Given the description of an element on the screen output the (x, y) to click on. 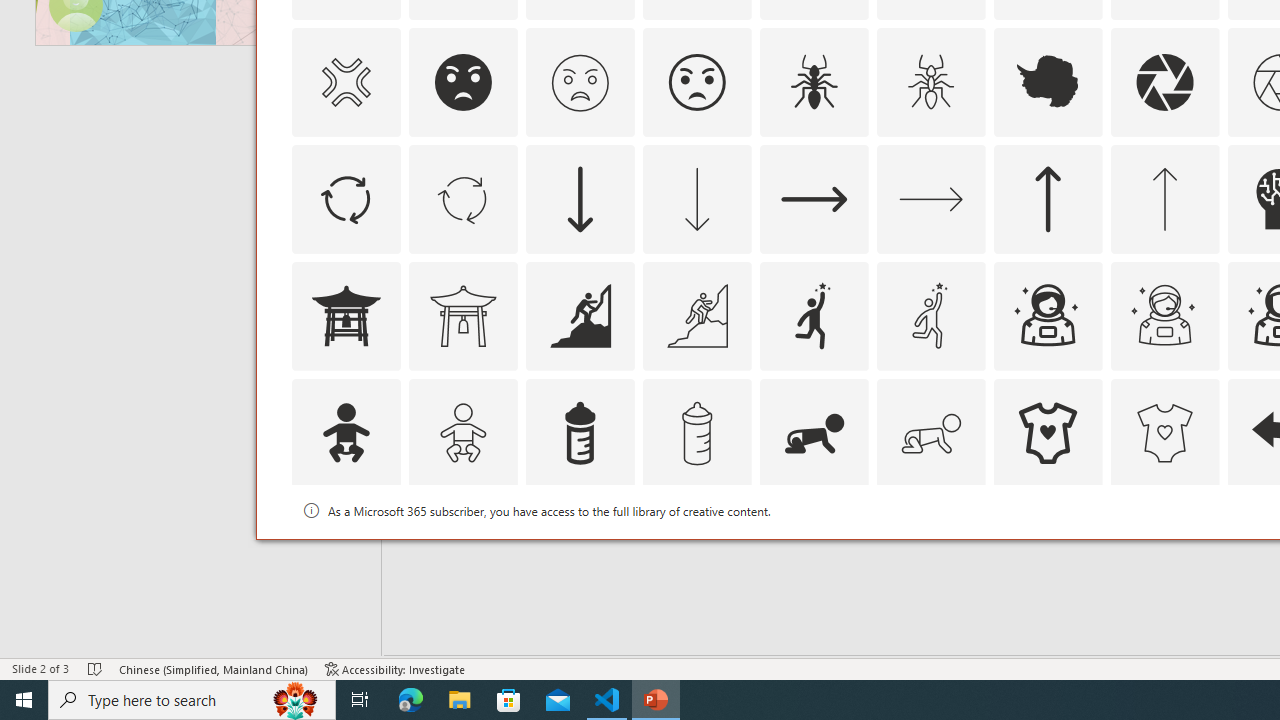
AutomationID: Icons_ArrowUp (1048, 198)
AutomationID: Icons_BabyOnesie (1048, 432)
AutomationID: Icons_AsianTemple1_M (463, 316)
AutomationID: Icons_BabyOnesie_M (1164, 432)
AutomationID: Icons_Badge4 (930, 550)
AutomationID: Icons_Aperture (1164, 82)
AutomationID: Icons_AsianTemple1 (345, 316)
